Given the description of an element on the screen output the (x, y) to click on. 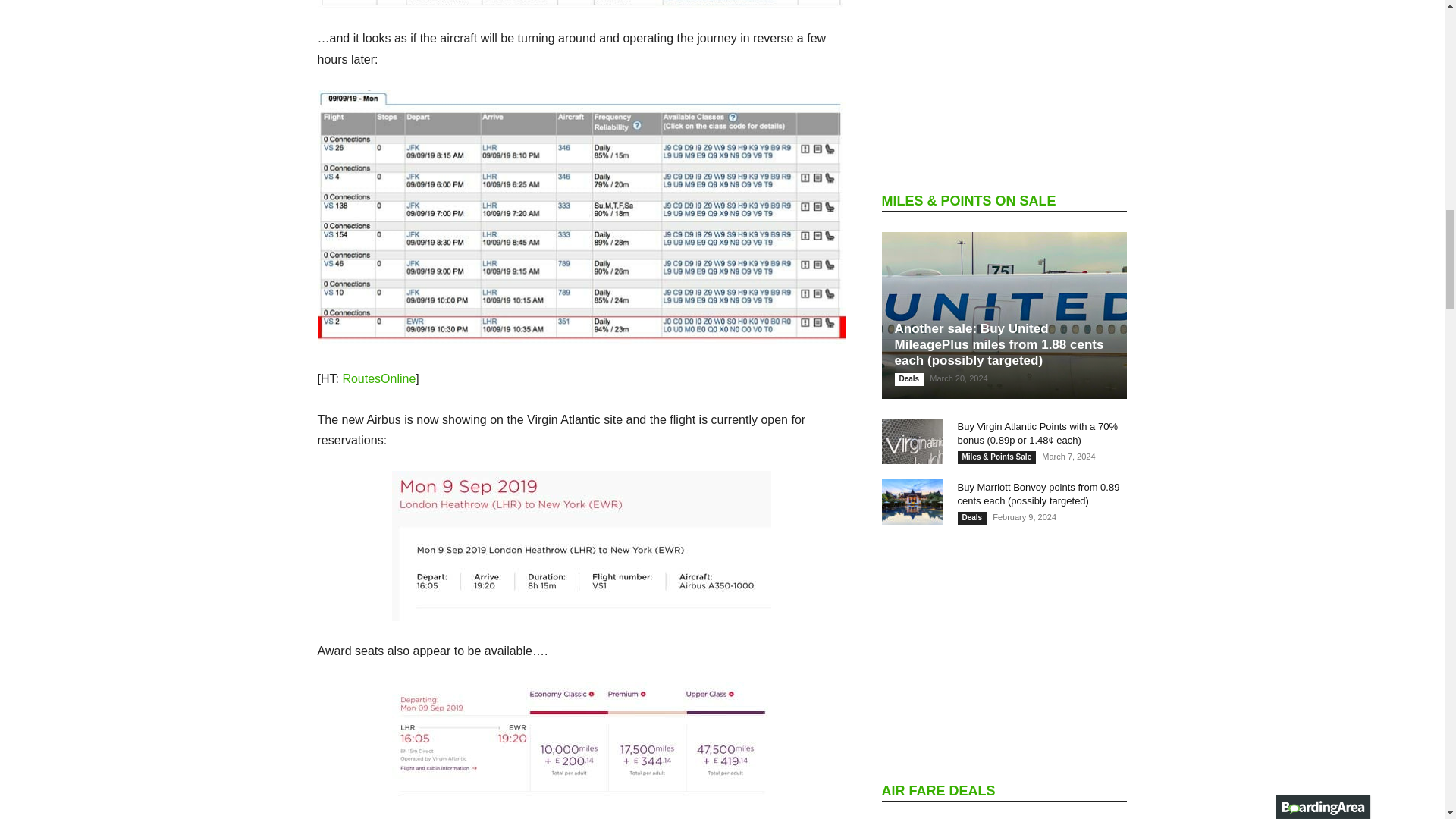
RoutesOnline (378, 378)
